Given the description of an element on the screen output the (x, y) to click on. 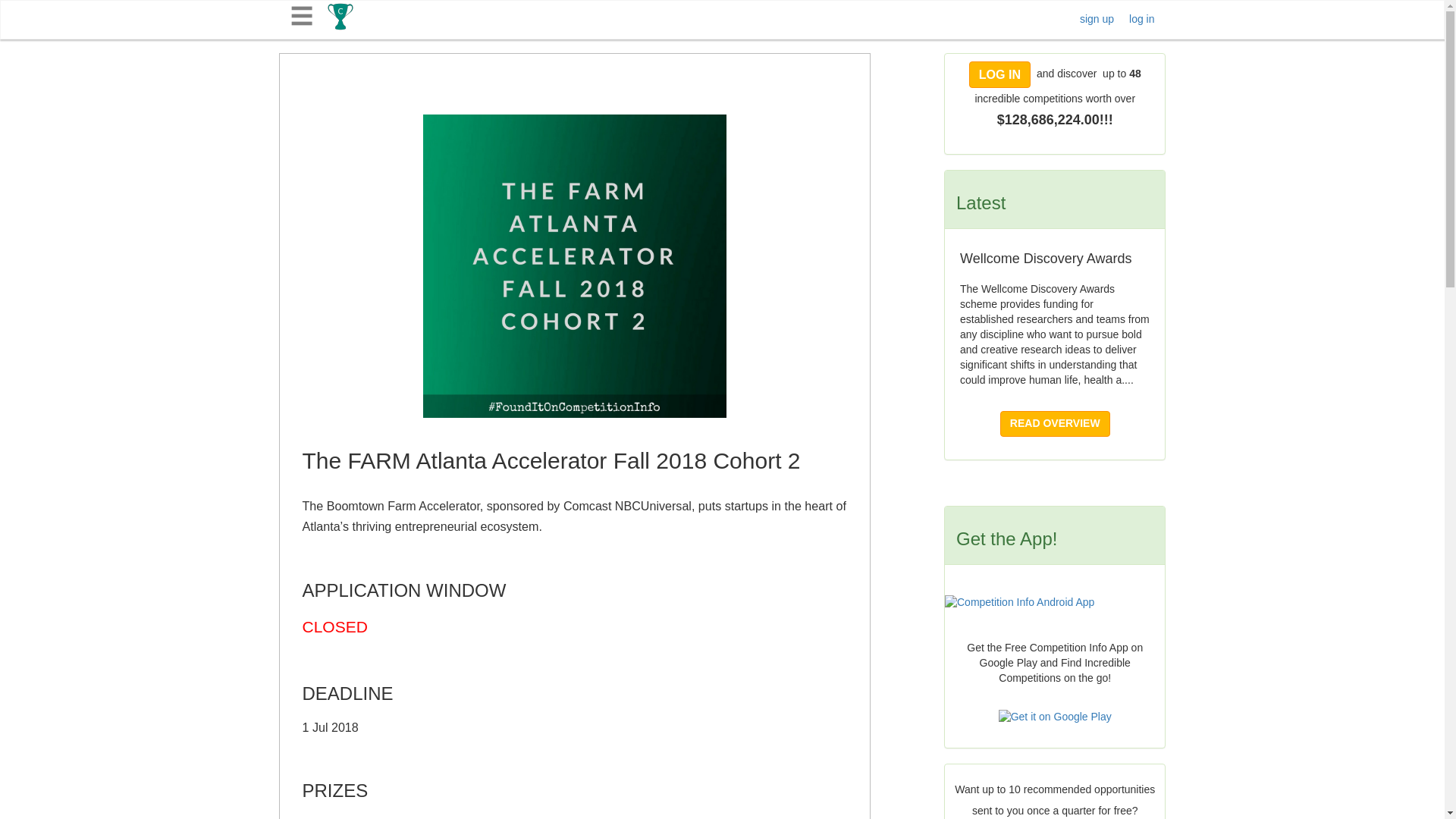
LOG IN (999, 74)
READ OVERVIEW (1054, 423)
Competition Info Android App (1055, 602)
sign up (1096, 19)
log in (1141, 19)
like (799, 68)
The FARM Atlanta Accelerator Fall 2018 Cohort 2 (574, 265)
